Given the description of an element on the screen output the (x, y) to click on. 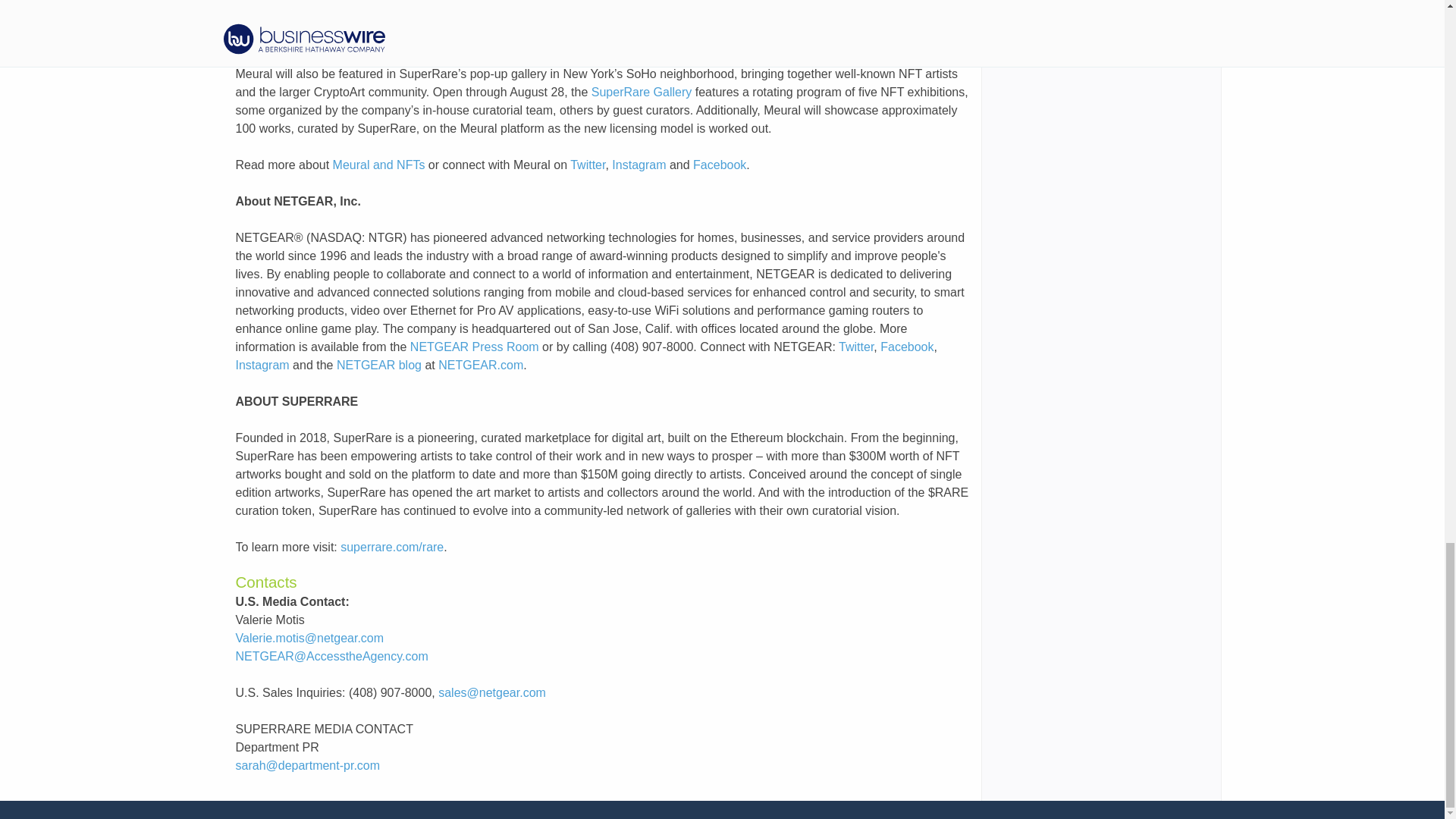
Twitter (855, 346)
NETGEAR Press Room (474, 346)
Facebook (719, 164)
NETGEAR.com (480, 364)
Instagram (261, 364)
Instagram (638, 164)
Twitter (587, 164)
NETGEAR blog (379, 364)
Facebook (906, 346)
SuperRare Gallery (642, 91)
